Given the description of an element on the screen output the (x, y) to click on. 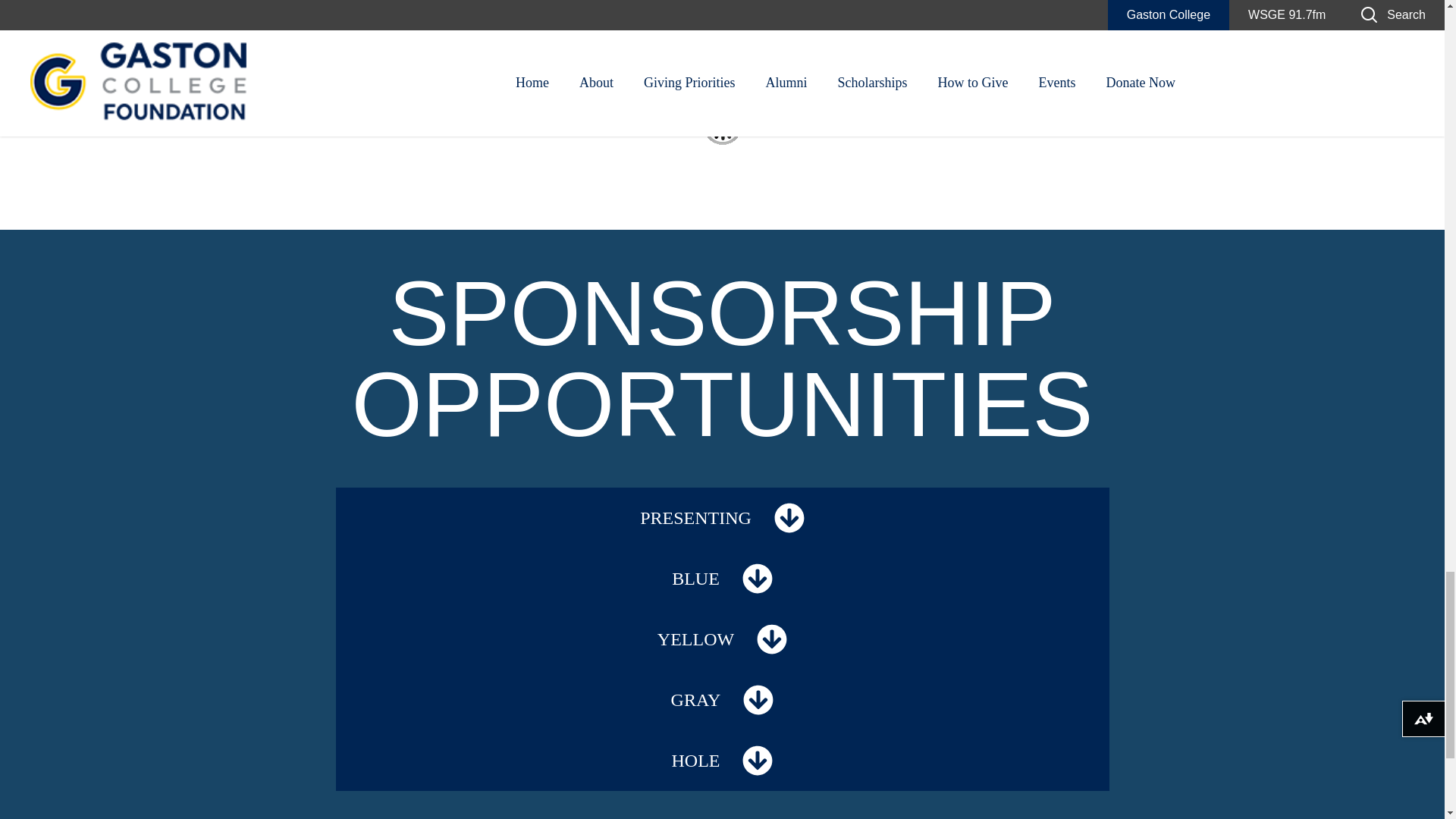
Toggle Tab Content for BLUE (721, 578)
Open BLUE Tab (757, 578)
Open YELLOW Tab (772, 639)
Open PRESENTING Tab (789, 517)
Toggle Tab Content for YELLOW (721, 639)
Toggle Tab Content for PRESENTING (721, 517)
